Given the description of an element on the screen output the (x, y) to click on. 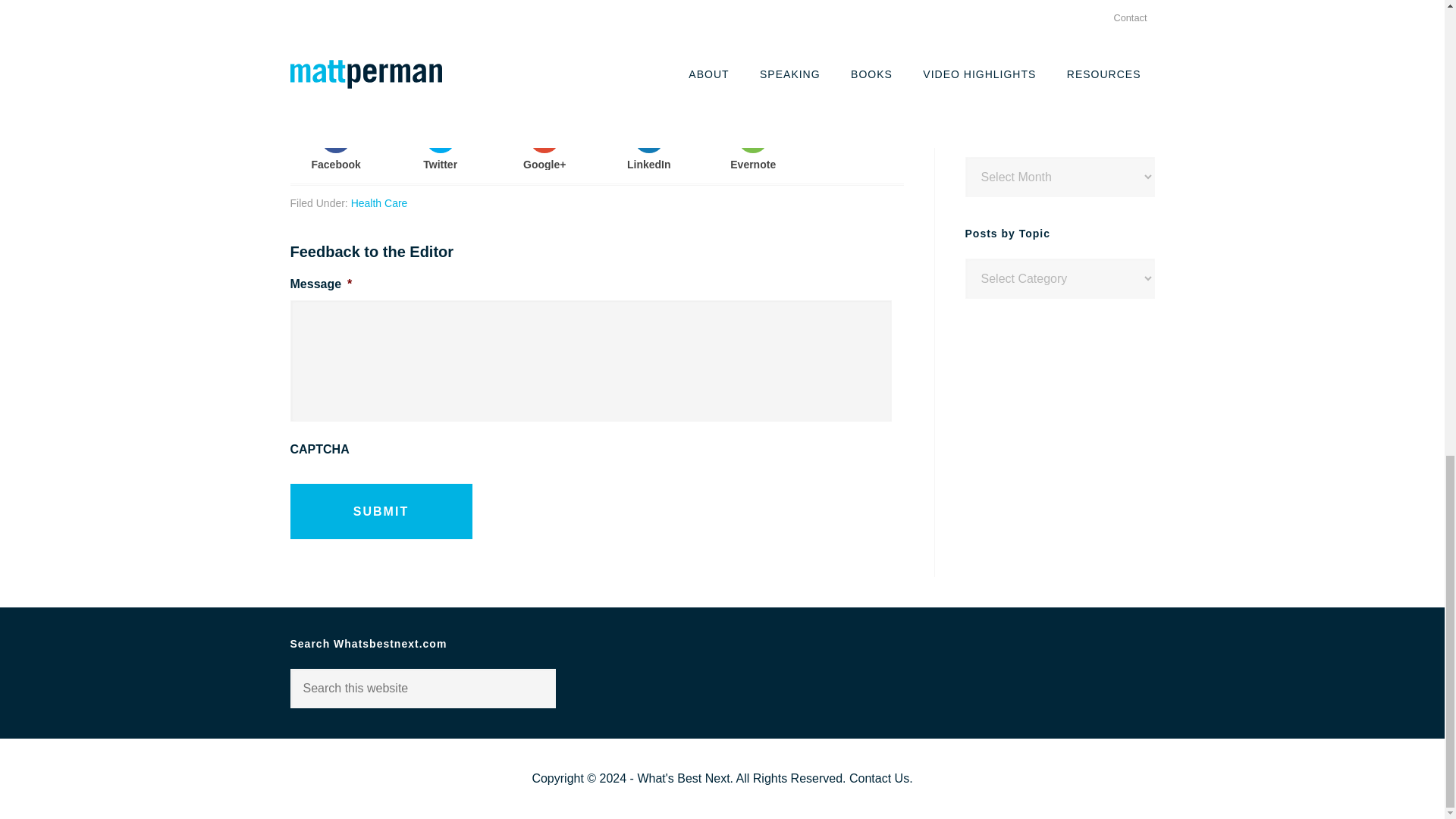
Submit (380, 511)
Health Care (378, 203)
Evernote (753, 145)
Twitter (440, 145)
Twitter (979, 86)
LinkedIn (648, 145)
all of my books and publications (1064, 6)
Facebook (1030, 86)
